Given the description of an element on the screen output the (x, y) to click on. 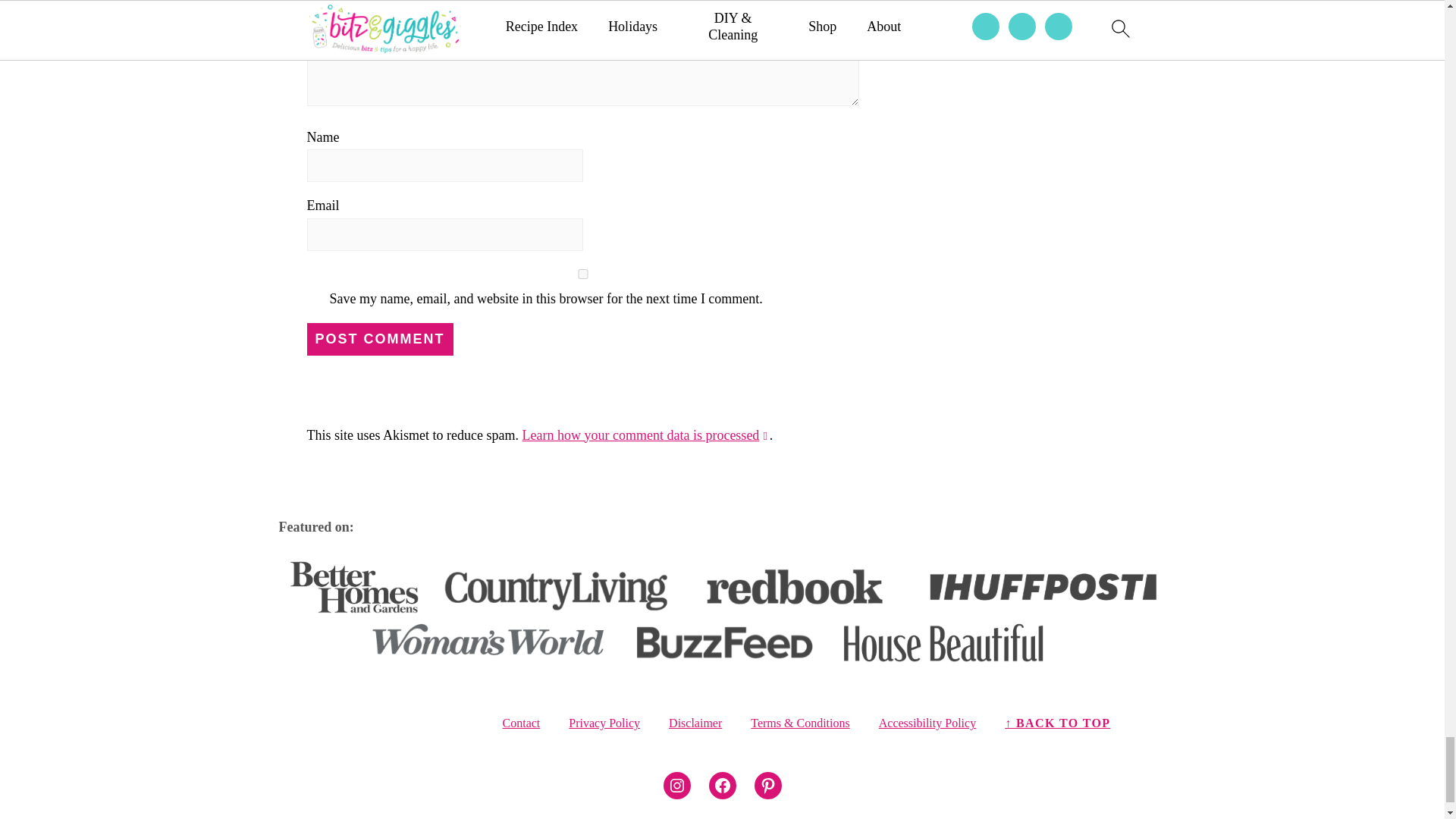
Post Comment (378, 338)
yes (582, 274)
